Given the description of an element on the screen output the (x, y) to click on. 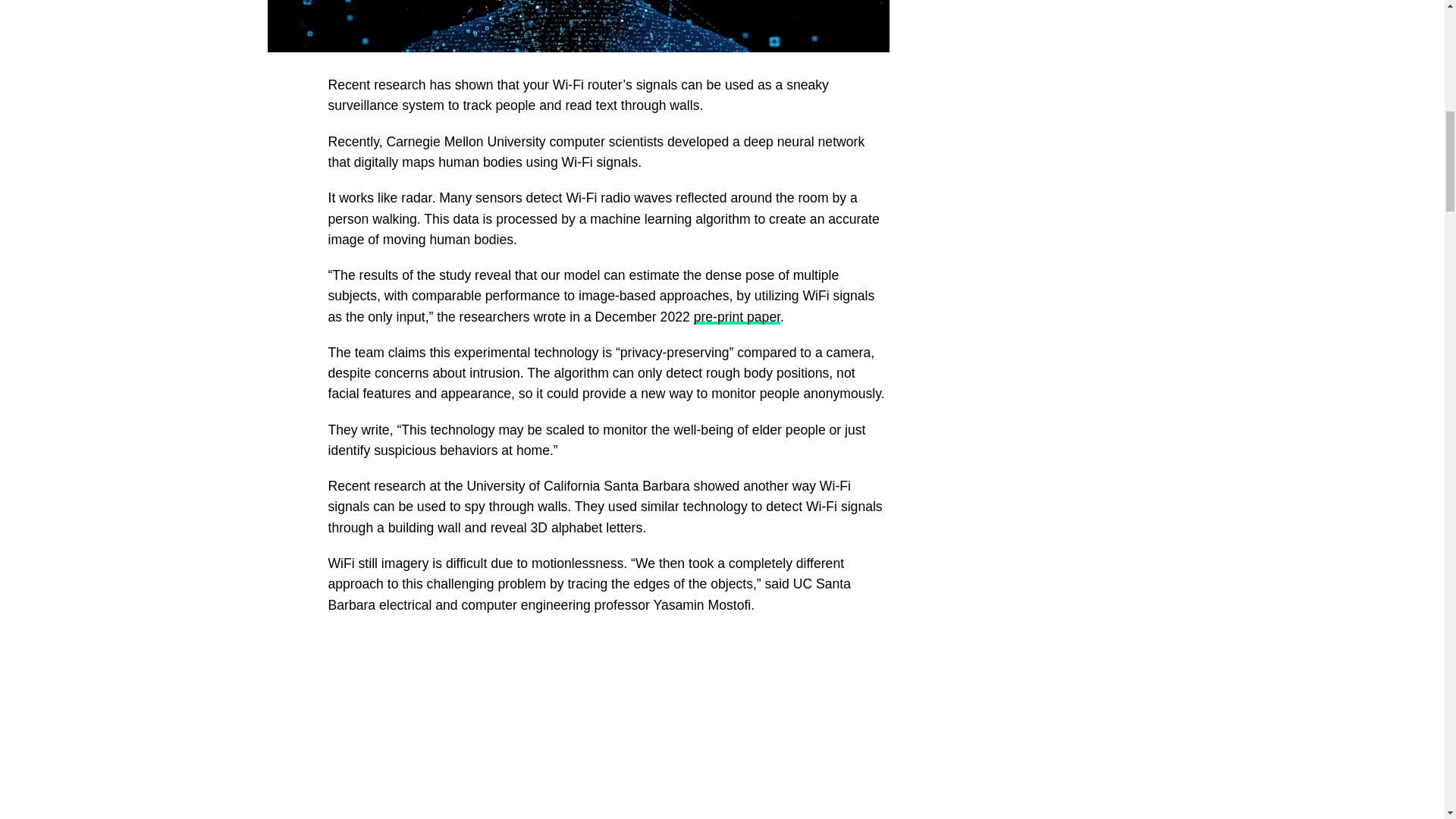
WiFi Can Read Through Walls (607, 724)
